Given the description of an element on the screen output the (x, y) to click on. 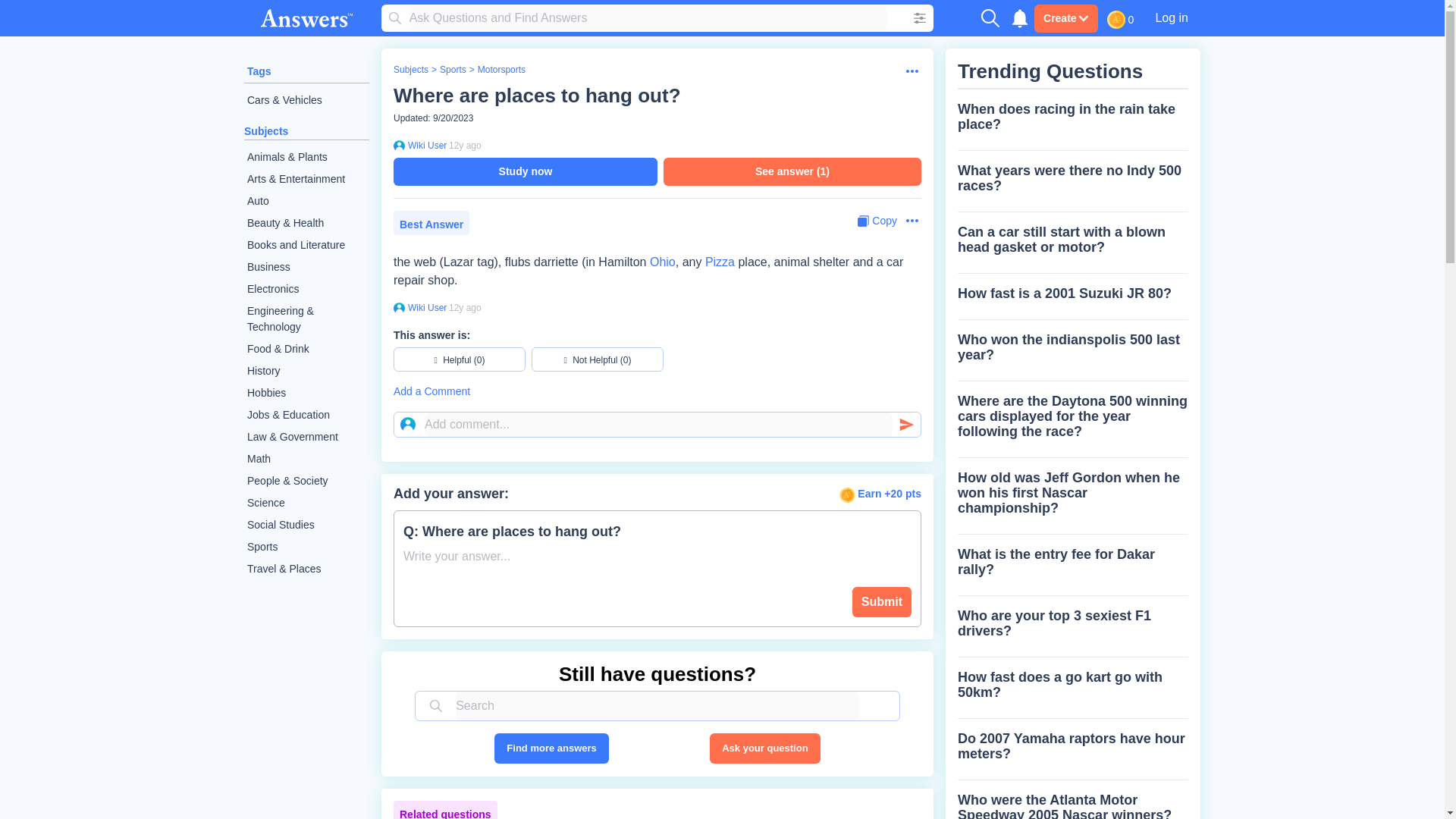
Electronics (306, 289)
Motorsports (501, 69)
Ohio (662, 261)
2011-11-15 21:31:56 (464, 145)
Subjects (410, 69)
Sports (306, 546)
Copy (876, 220)
Books and Literature (306, 245)
Wiki User (425, 145)
Wiki User (425, 307)
